Given the description of an element on the screen output the (x, y) to click on. 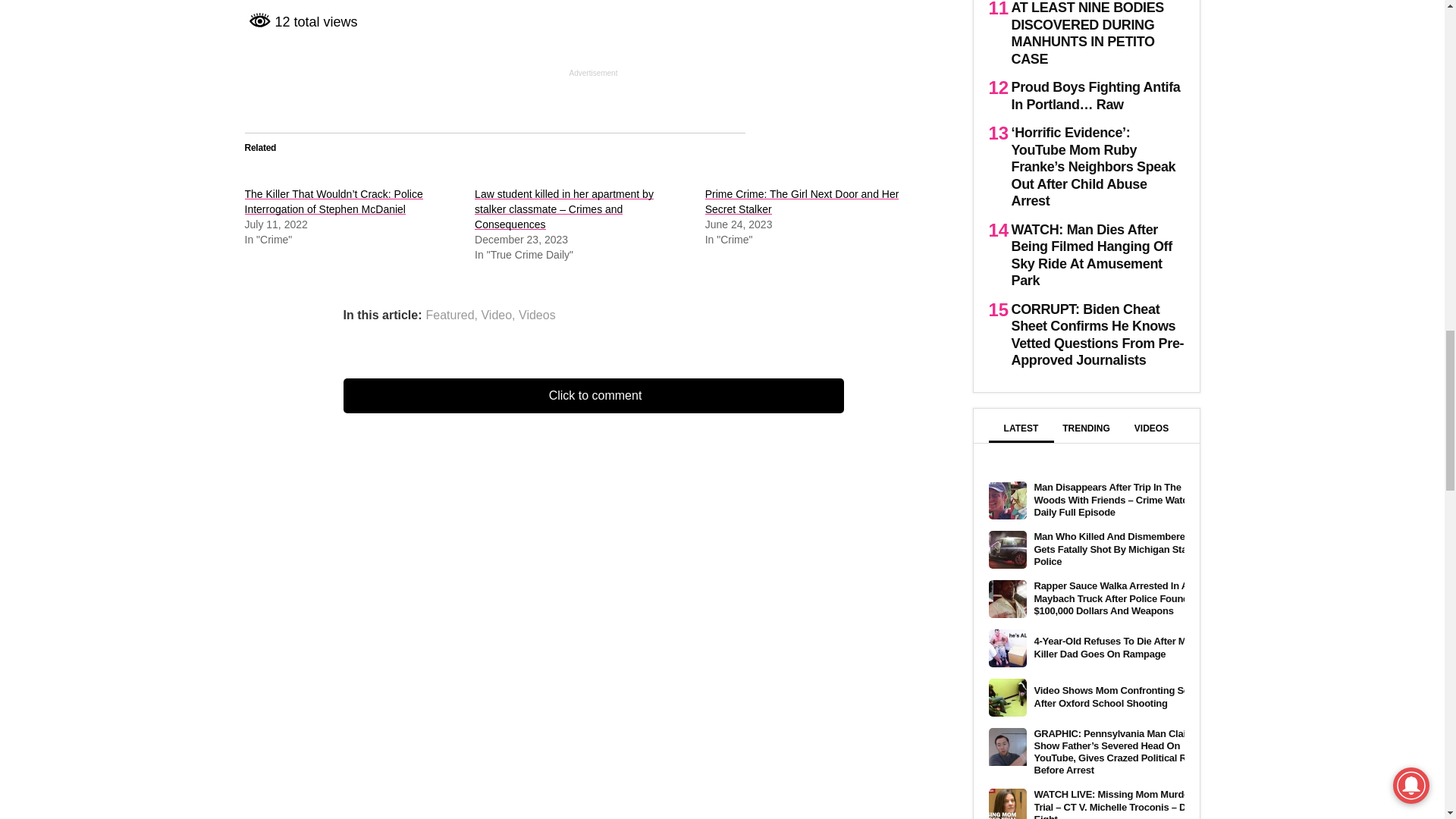
Featured (450, 315)
Prime Crime: The Girl Next Door and Her Secret Stalker (801, 201)
Prime Crime: The Girl Next Door and Her Secret Stalker (801, 201)
